Given the description of an element on the screen output the (x, y) to click on. 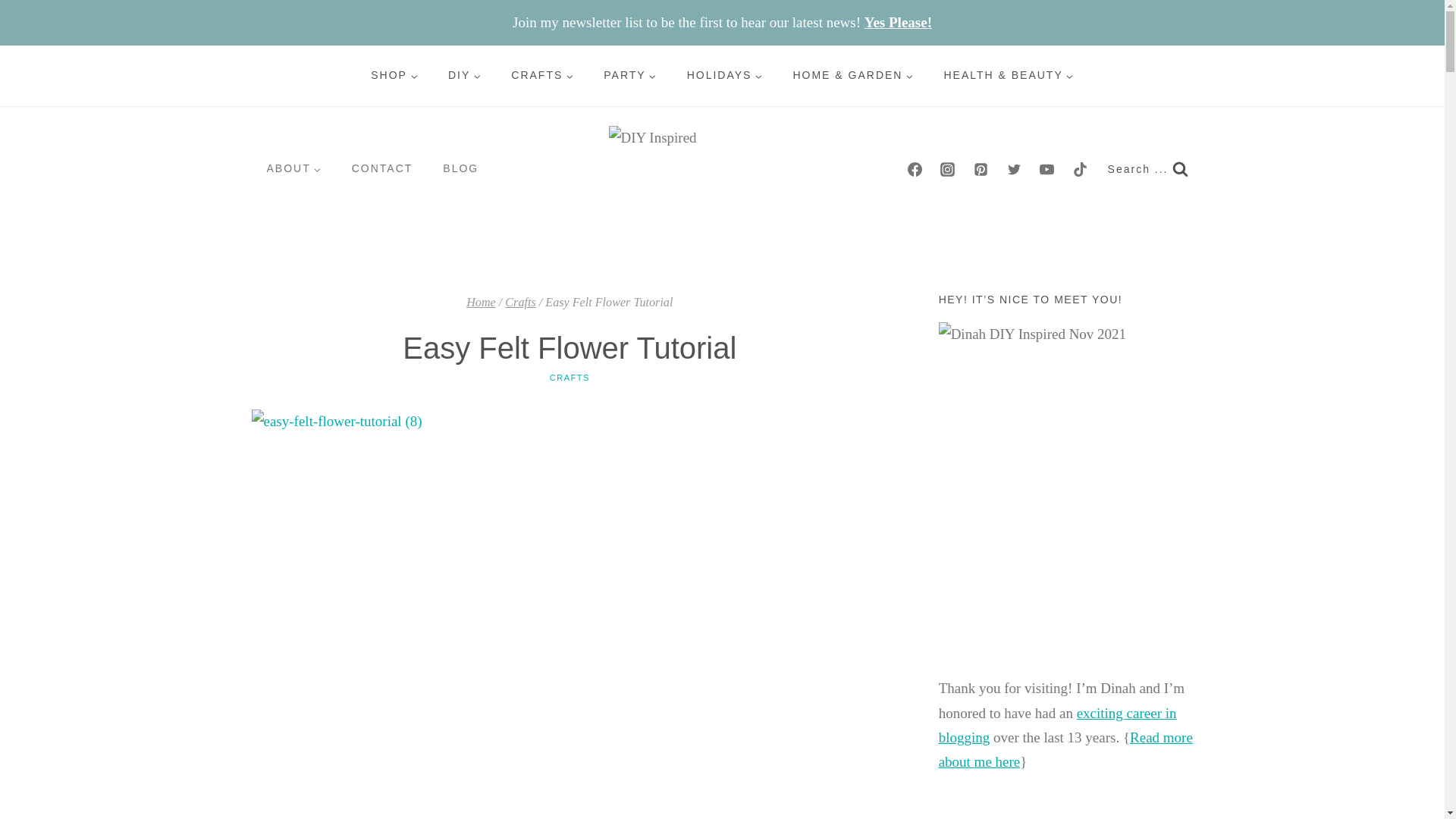
CRAFTS (542, 75)
HOLIDAYS (724, 75)
DIY (464, 75)
PARTY (629, 75)
SHOP (393, 75)
Yes Please! (897, 22)
